Given the description of an element on the screen output the (x, y) to click on. 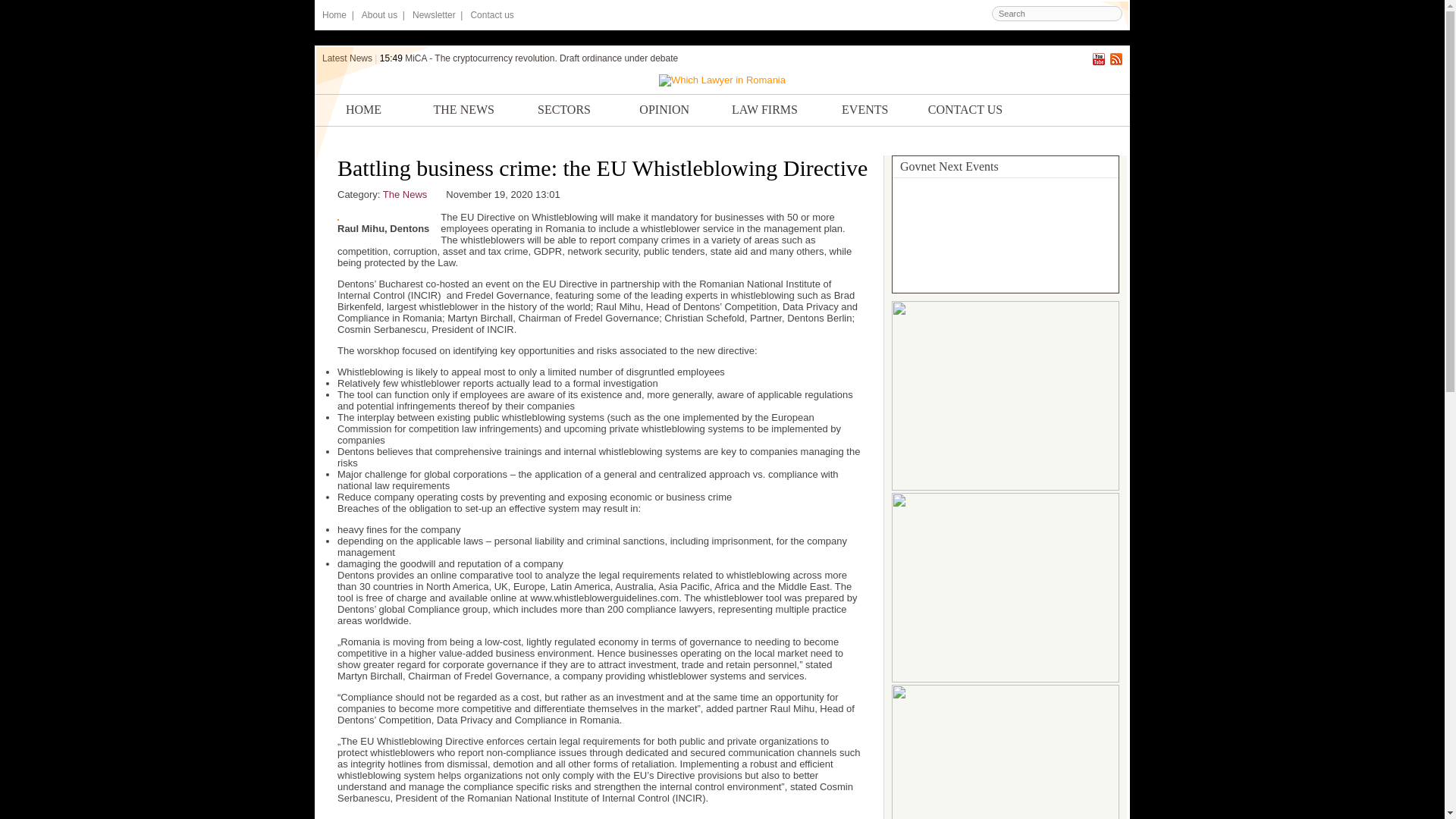
LAW FIRMS (764, 110)
www.whistleblowerguidelines.com (603, 597)
EVENTS (864, 110)
Contact us (491, 14)
SECTORS (563, 110)
HOME (363, 110)
The News (405, 194)
THE NEWS (463, 110)
OPINION (664, 110)
